Given the description of an element on the screen output the (x, y) to click on. 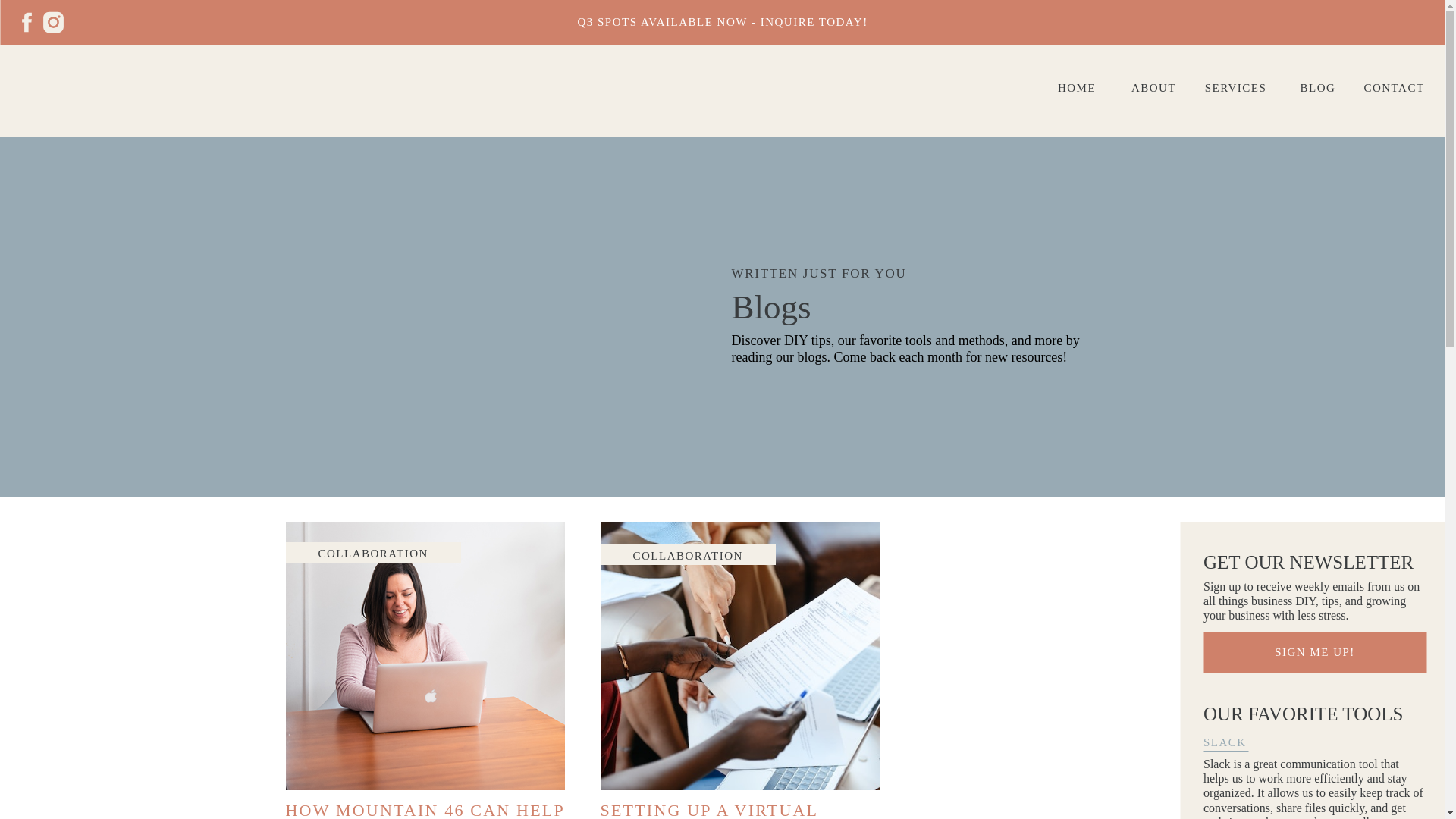
HOME (1076, 90)
CONTACT (1393, 90)
COLLABORATION (373, 553)
Q3 SPOTS AVAILABLE NOW - INQUIRE TODAY! (721, 22)
COLLABORATION (686, 555)
ABOUT (1153, 90)
SLACK (1267, 743)
SERVICES (1236, 90)
BLOG (1317, 90)
